Given the description of an element on the screen output the (x, y) to click on. 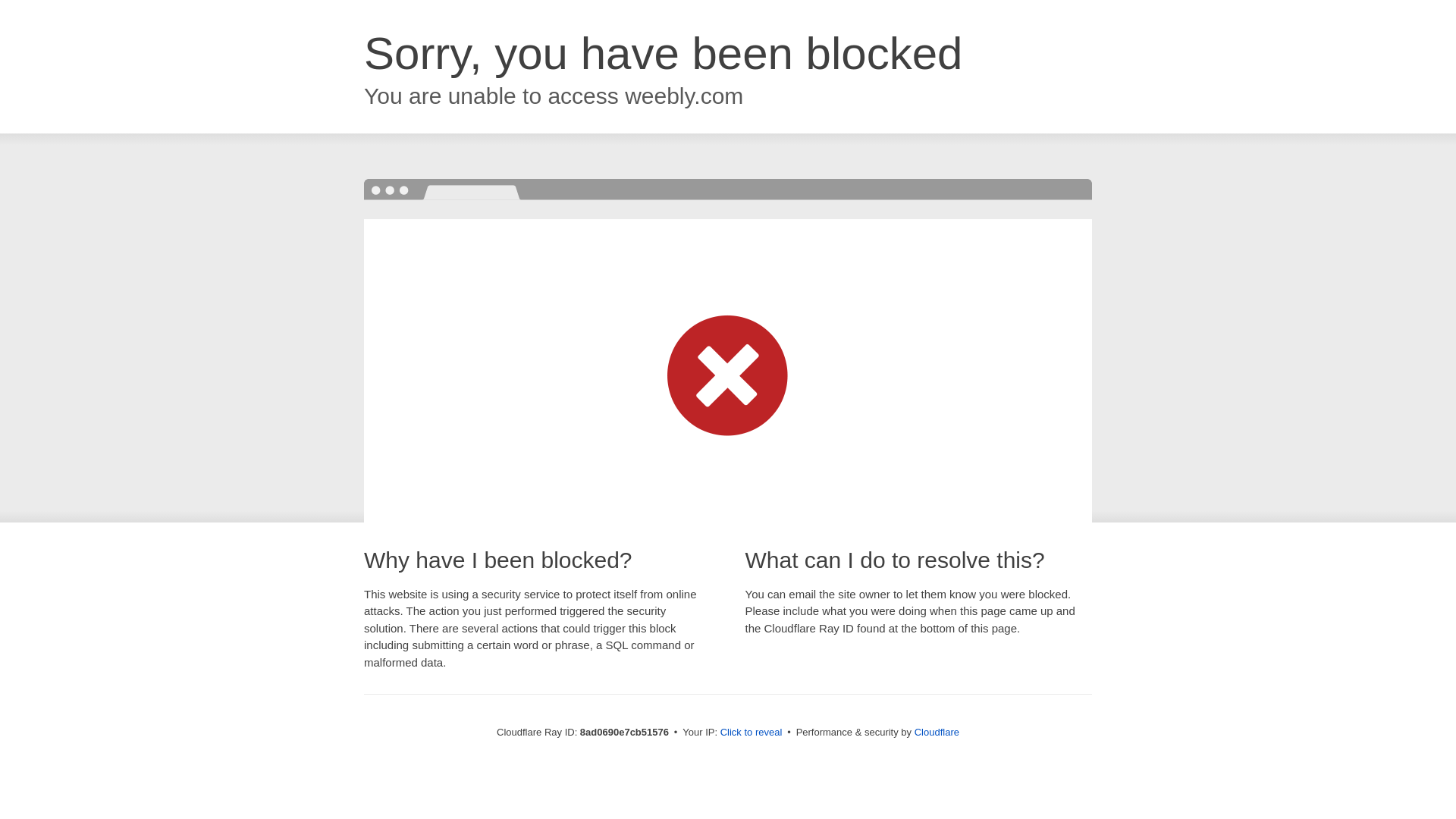
Cloudflare (936, 731)
Click to reveal (751, 732)
